Given the description of an element on the screen output the (x, y) to click on. 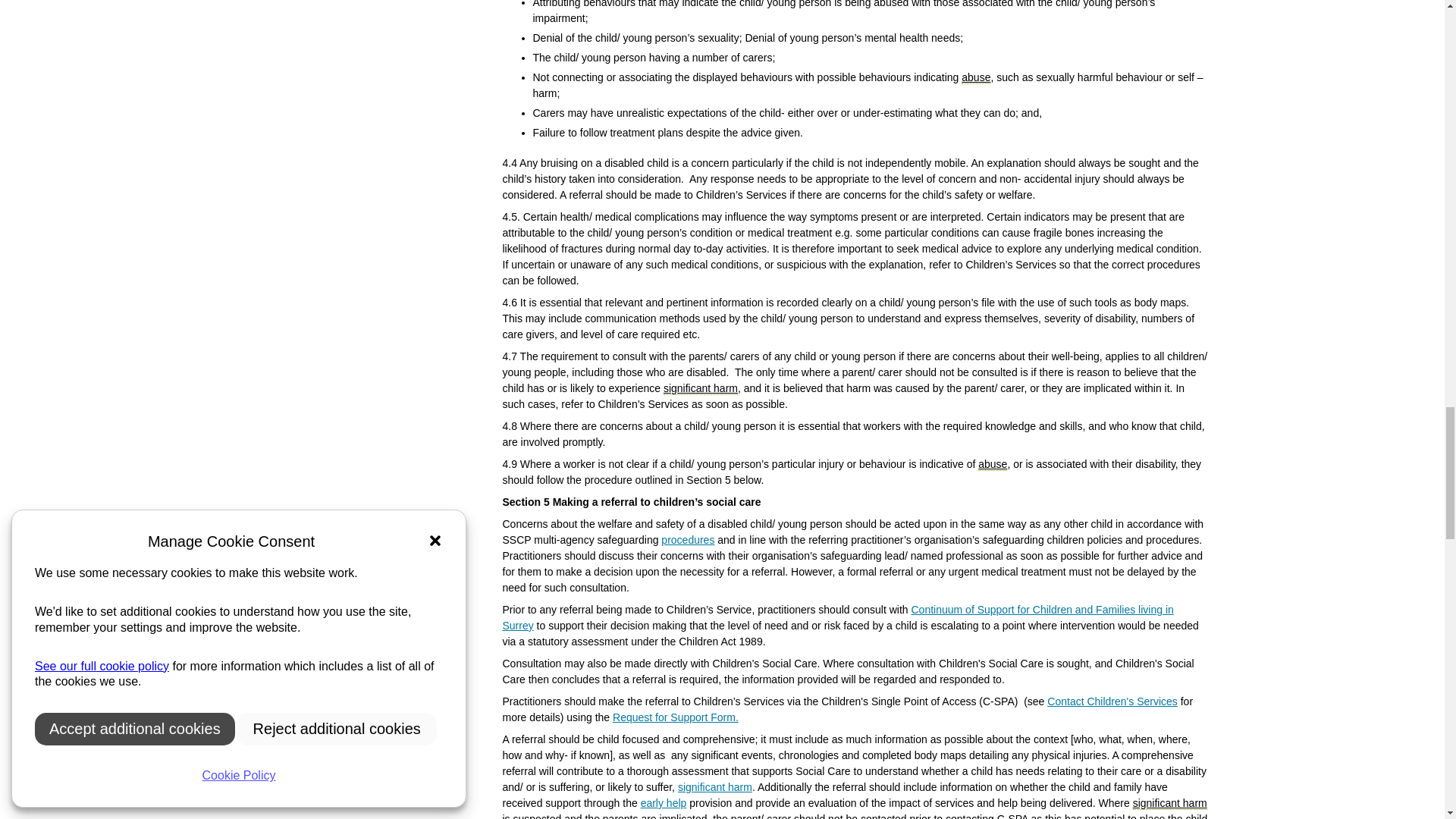
abuse (992, 463)
significant harm (700, 388)
abuse (975, 77)
procedures (687, 539)
